Given the description of an element on the screen output the (x, y) to click on. 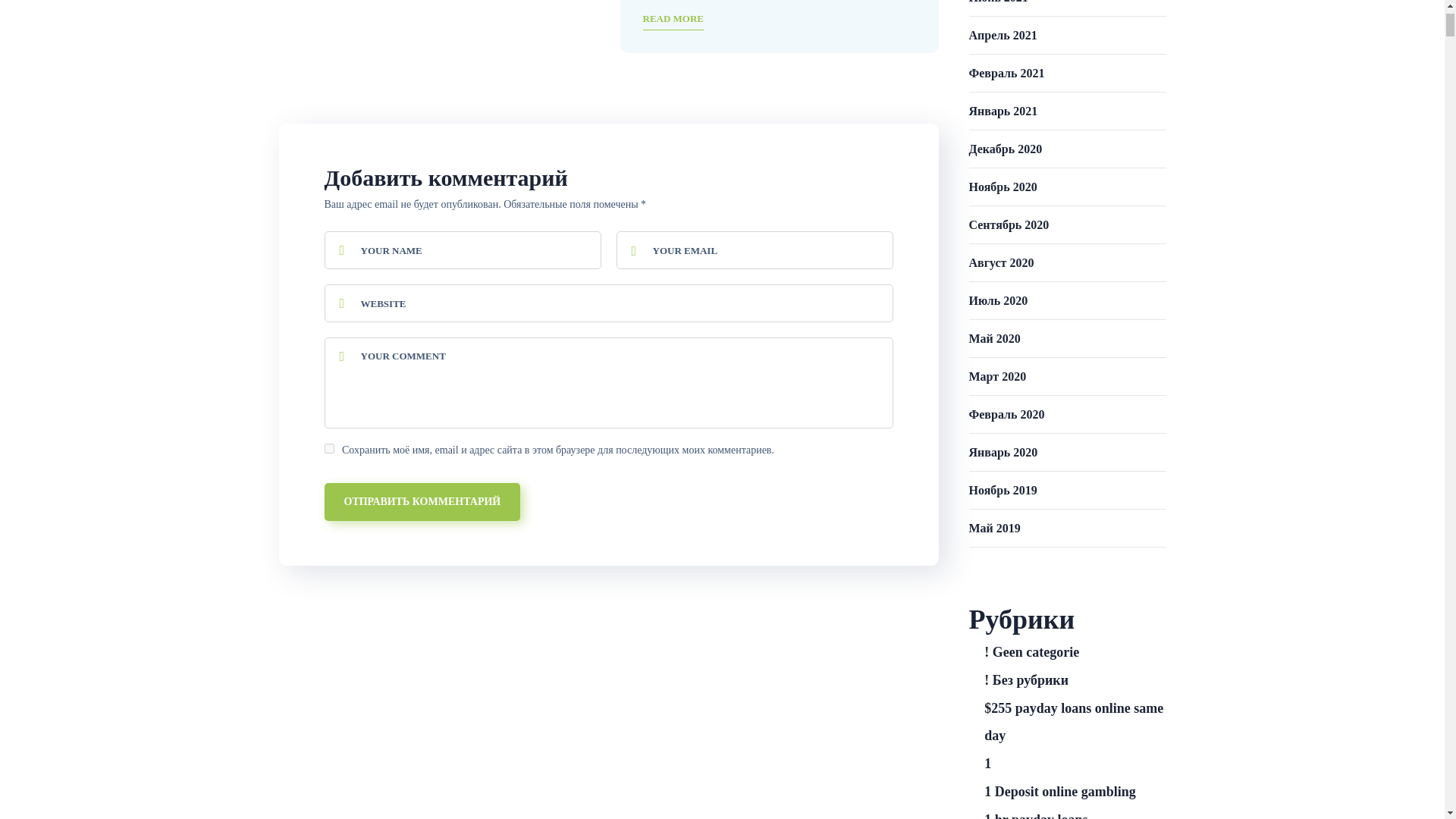
YOUR EMAIL (753, 249)
YOUR NAME (462, 249)
READ MORE (673, 19)
WEBSITE (608, 303)
yes (329, 448)
